Given the description of an element on the screen output the (x, y) to click on. 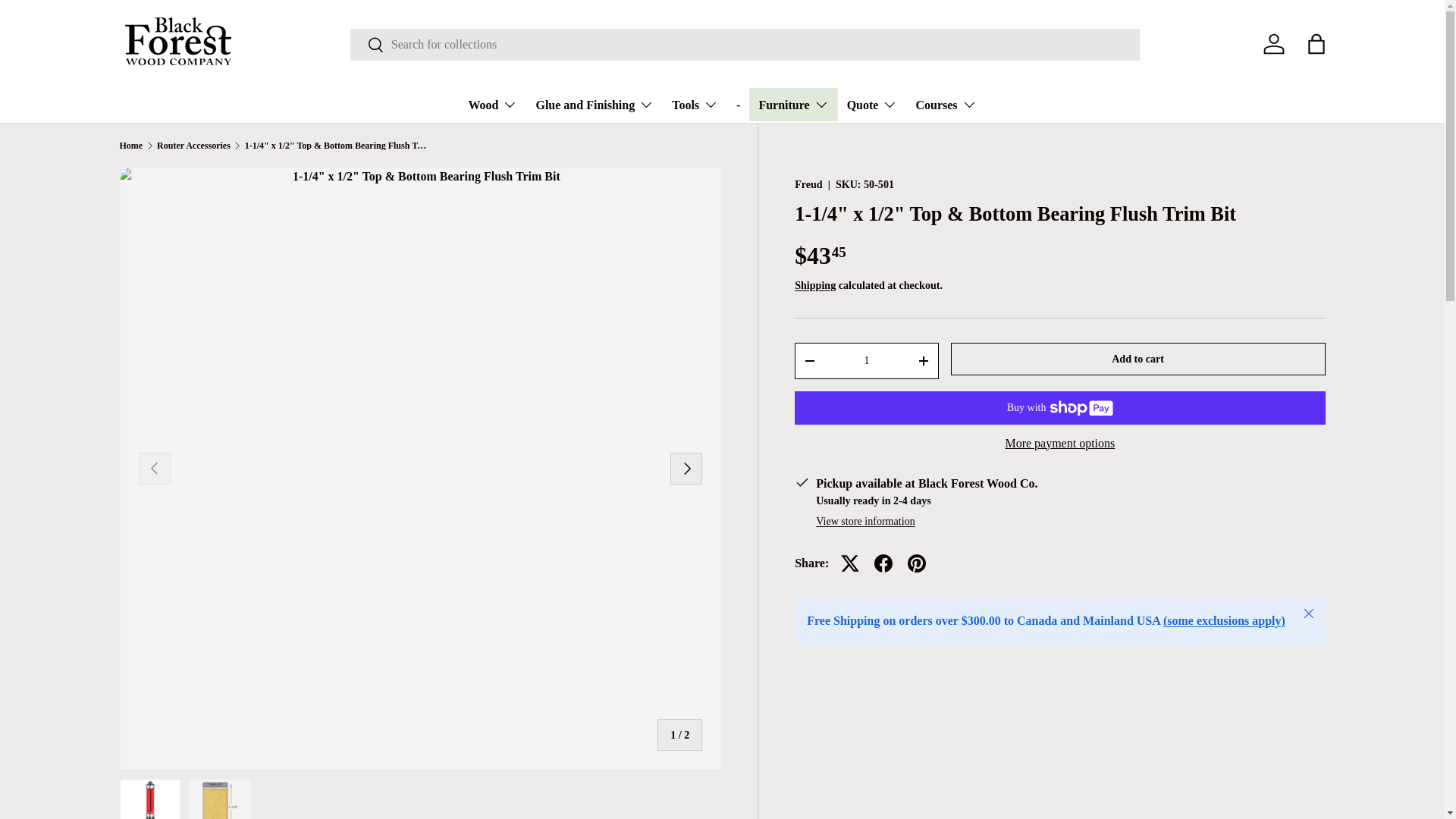
Share on Facebook (882, 563)
Tools (694, 104)
Tweet on X (849, 563)
Skip to content (68, 21)
1 (866, 359)
Wood (491, 104)
Pin on Pinterest (916, 563)
Furniture (793, 104)
Search (367, 45)
Bag (1316, 43)
Glue and Finishing (594, 104)
Log in (1273, 43)
